Given the description of an element on the screen output the (x, y) to click on. 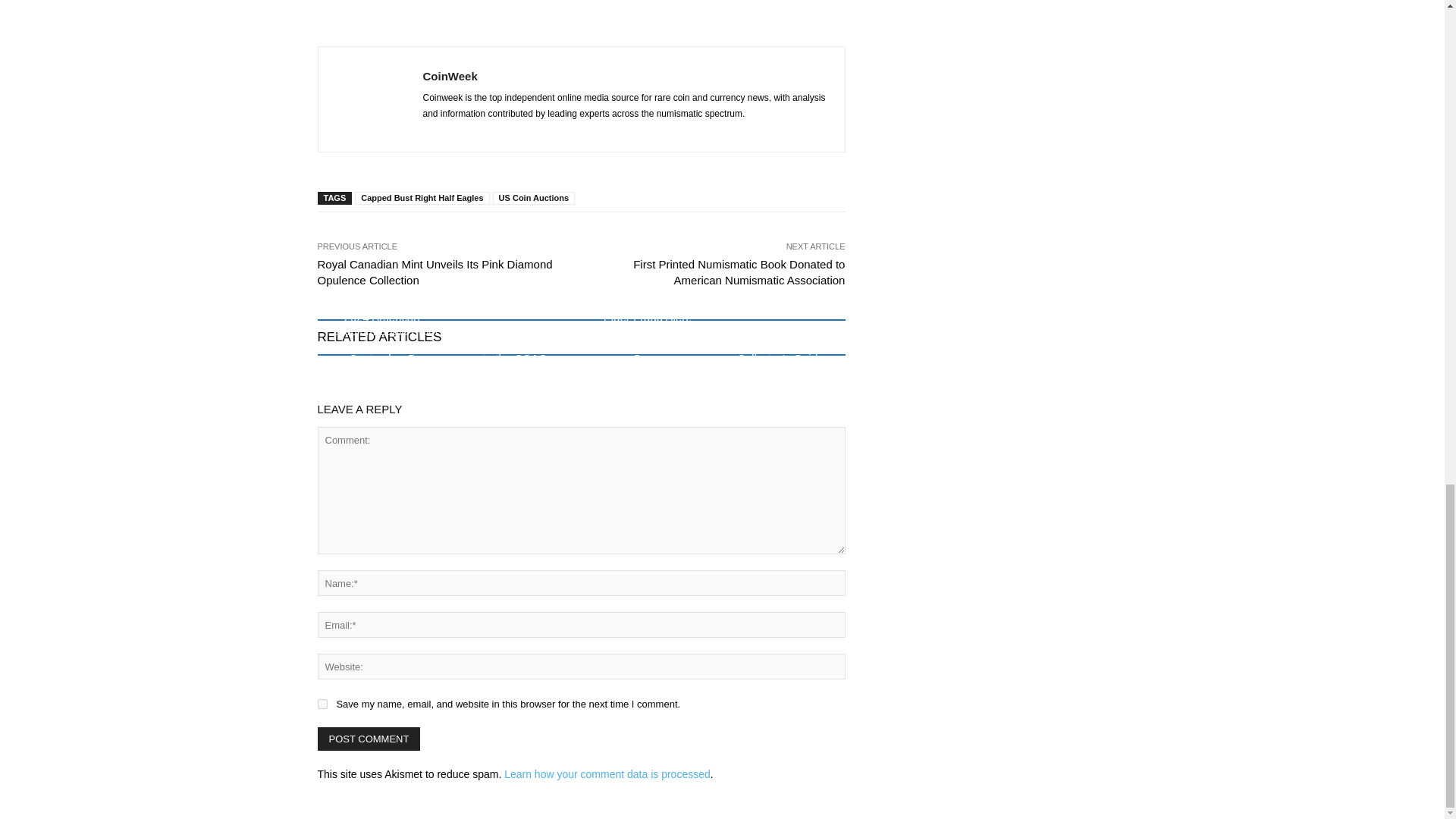
Post Comment (368, 739)
U.S. Mint Now Accepting Applications to the CCAC (515, 344)
CoinWeek (369, 99)
yes (321, 704)
2024 American Palladium Eagle Proof Coin on Sale September 5 (381, 337)
